Given the description of an element on the screen output the (x, y) to click on. 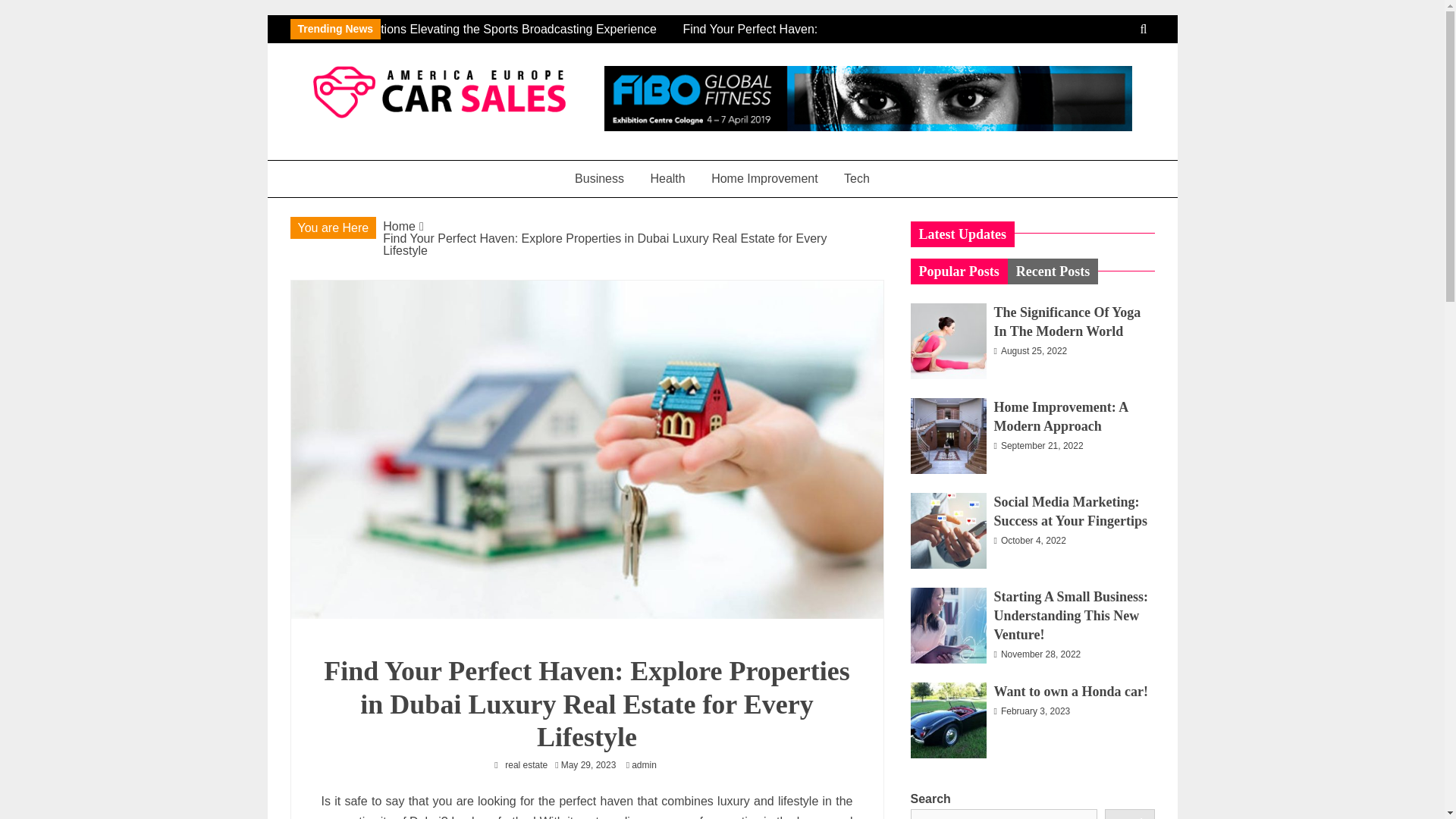
Business (598, 178)
admin (647, 765)
Home (398, 226)
May 29, 2023 (587, 765)
Tech (856, 178)
Home Improvement (764, 178)
Recent Posts (1052, 271)
Health (667, 178)
